Given the description of an element on the screen output the (x, y) to click on. 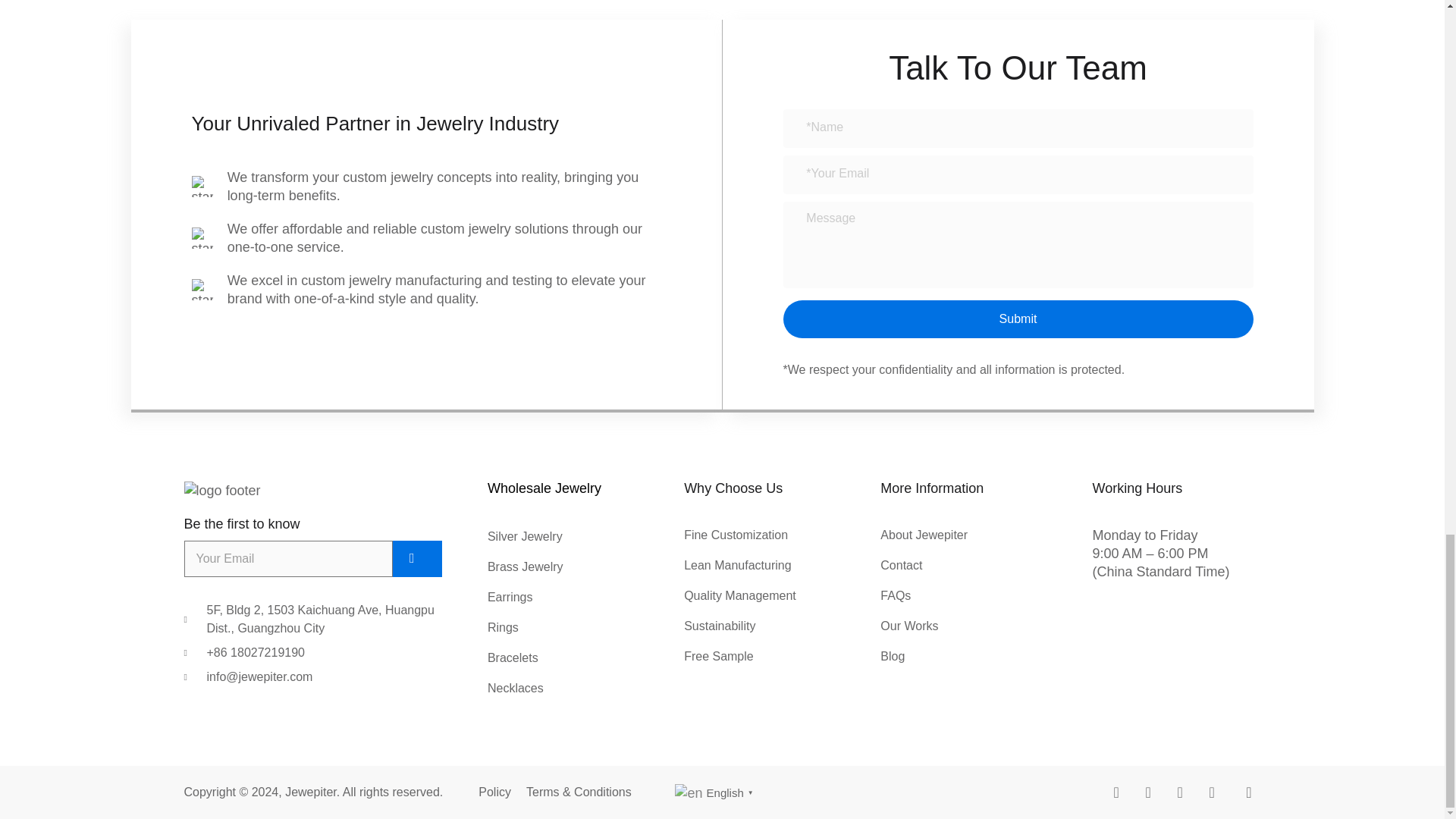
Submit (417, 558)
Submit (1017, 319)
logo footer (221, 490)
